Given the description of an element on the screen output the (x, y) to click on. 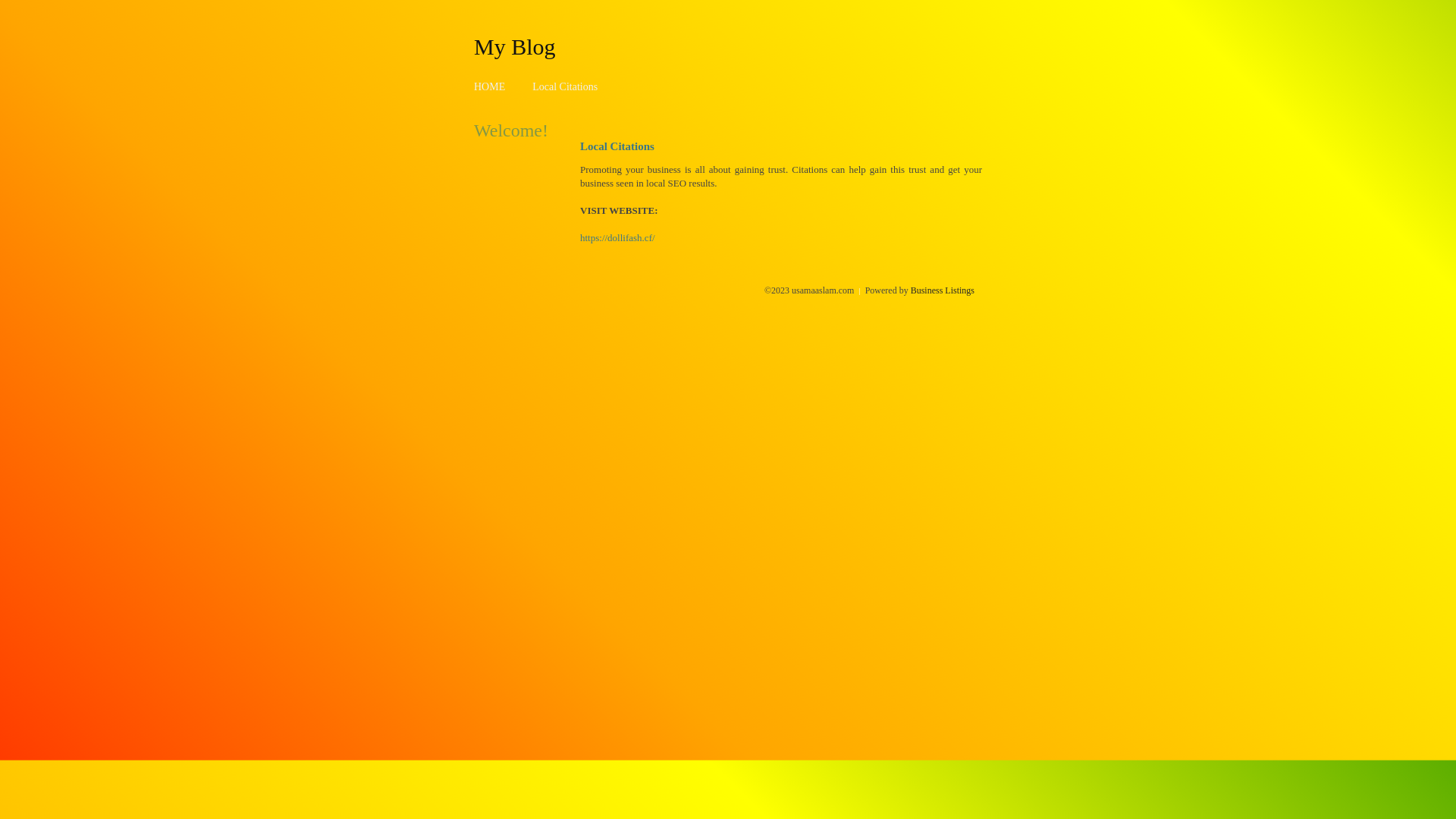
https://dollifash.cf/ Element type: text (617, 237)
Business Listings Element type: text (942, 290)
Local Citations Element type: text (564, 86)
HOME Element type: text (489, 86)
My Blog Element type: text (514, 46)
